Given the description of an element on the screen output the (x, y) to click on. 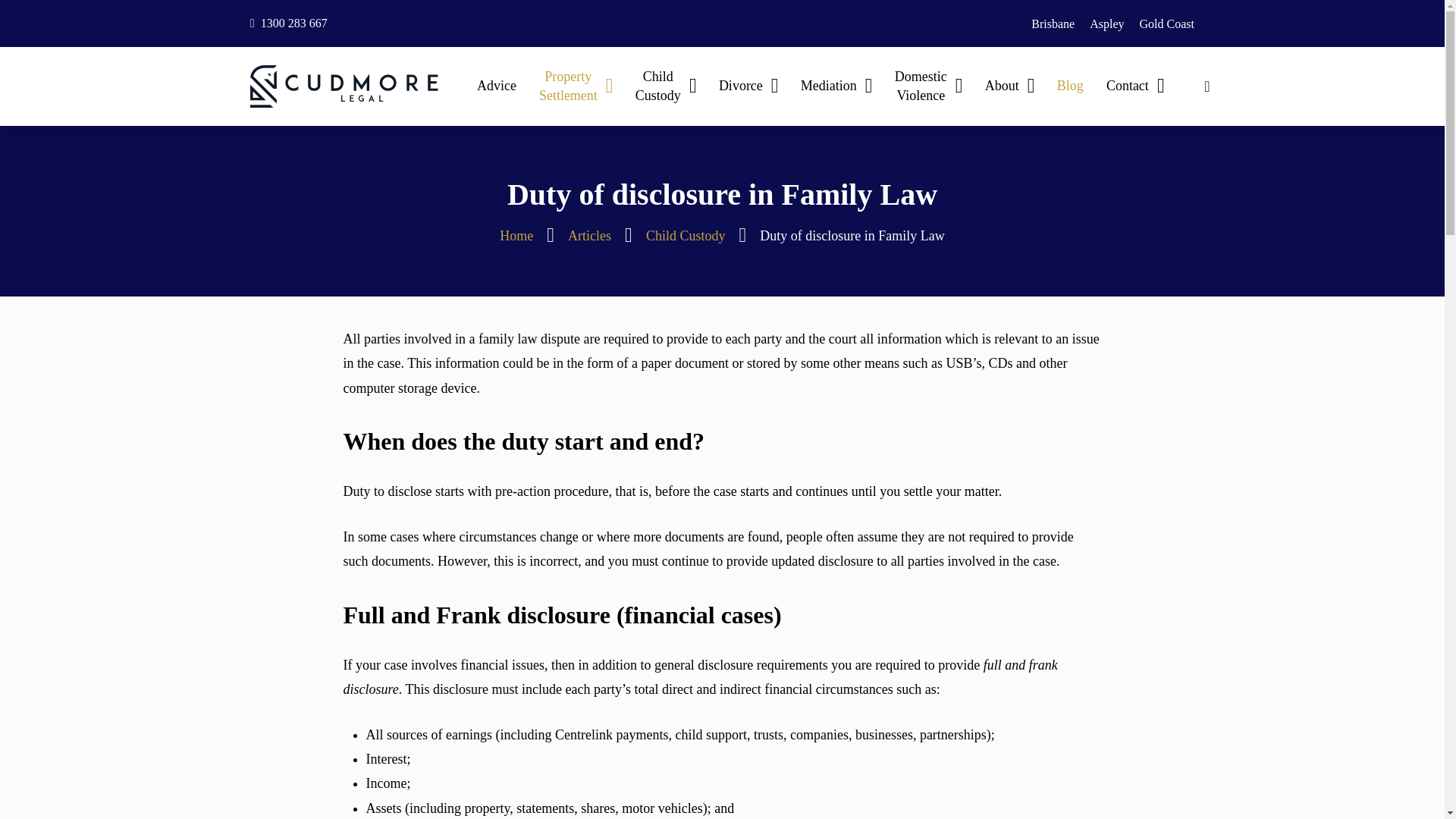
Gold Coast (1166, 23)
Brisbane (1052, 23)
Advice (496, 85)
1300 283 667 (288, 22)
Child Custody (665, 86)
Property Settlement (575, 86)
Aspley (1106, 23)
